Given the description of an element on the screen output the (x, y) to click on. 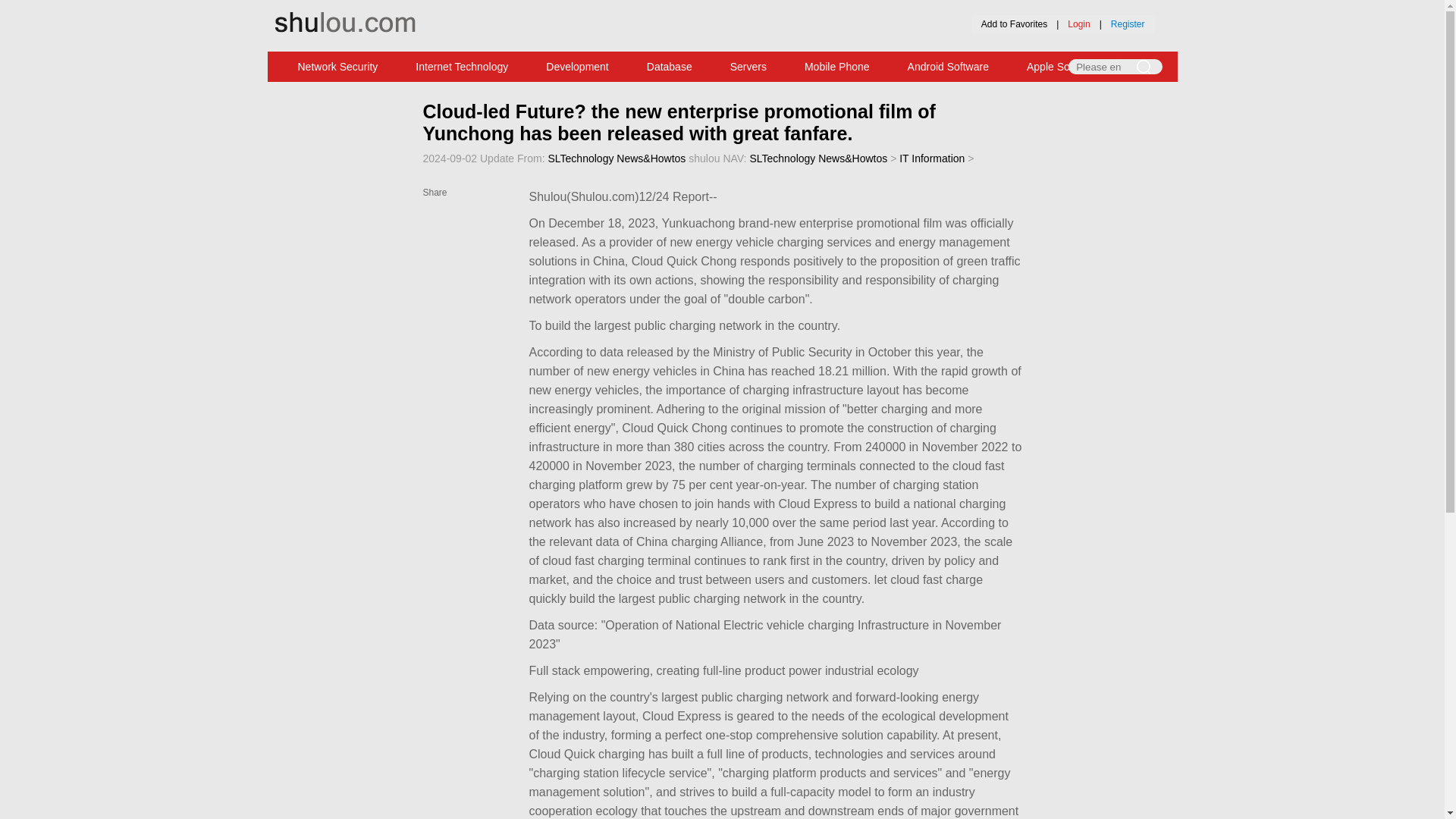
About us (678, 9)
Servers (748, 66)
Internet Technology (461, 66)
Apple Software (1062, 66)
Apple Software (1062, 66)
Add to Favorites (1013, 23)
IT Information (931, 158)
Database (669, 66)
Mobile Phone (837, 66)
Network Security (338, 66)
